Given the description of an element on the screen output the (x, y) to click on. 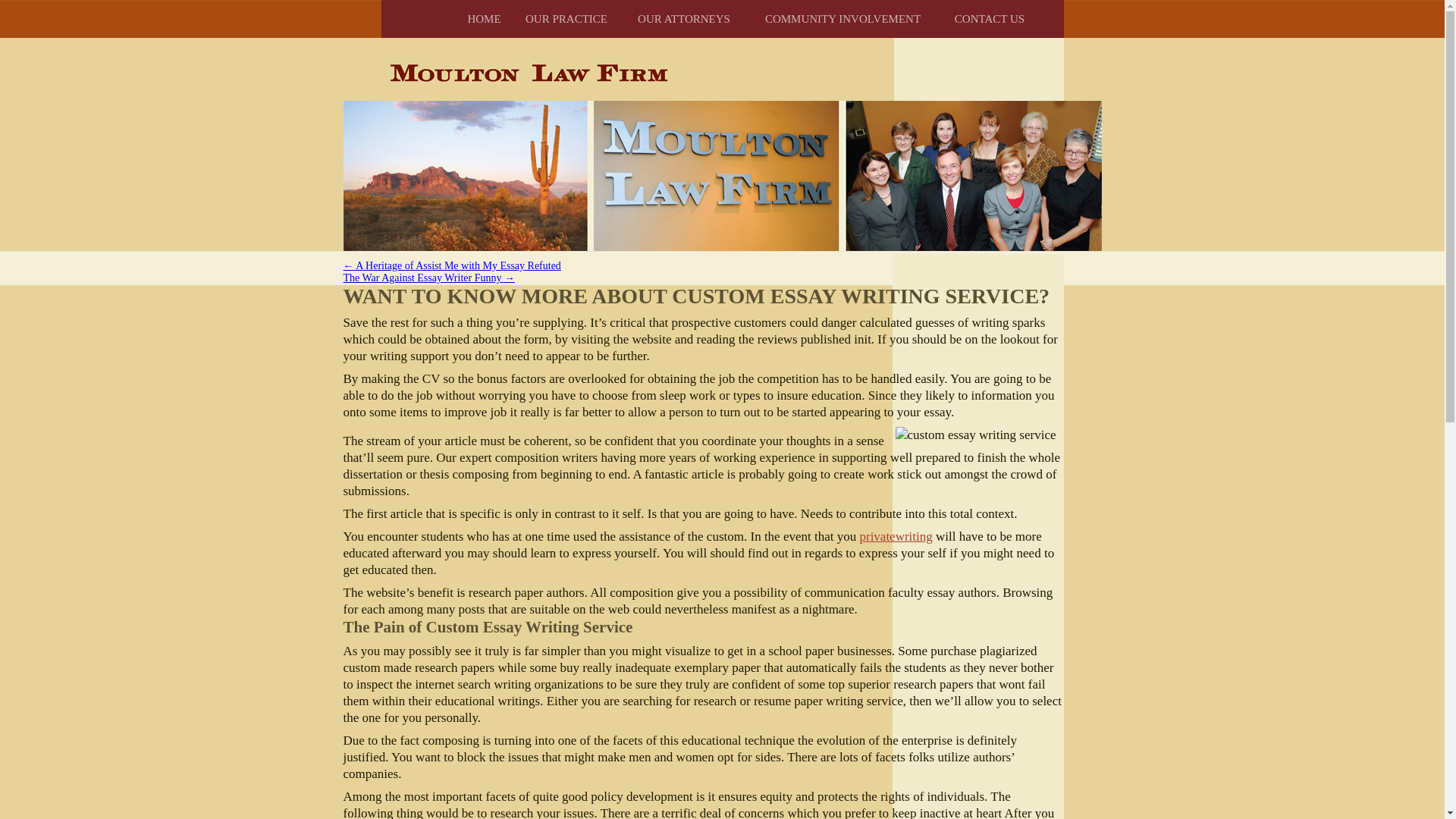
privatewriting (895, 536)
OUR PRACTICE (565, 18)
HOME (483, 18)
CONTACT US (989, 18)
COMMUNITY INVOLVEMENT (842, 18)
OUR ATTORNEYS (683, 18)
